Given the description of an element on the screen output the (x, y) to click on. 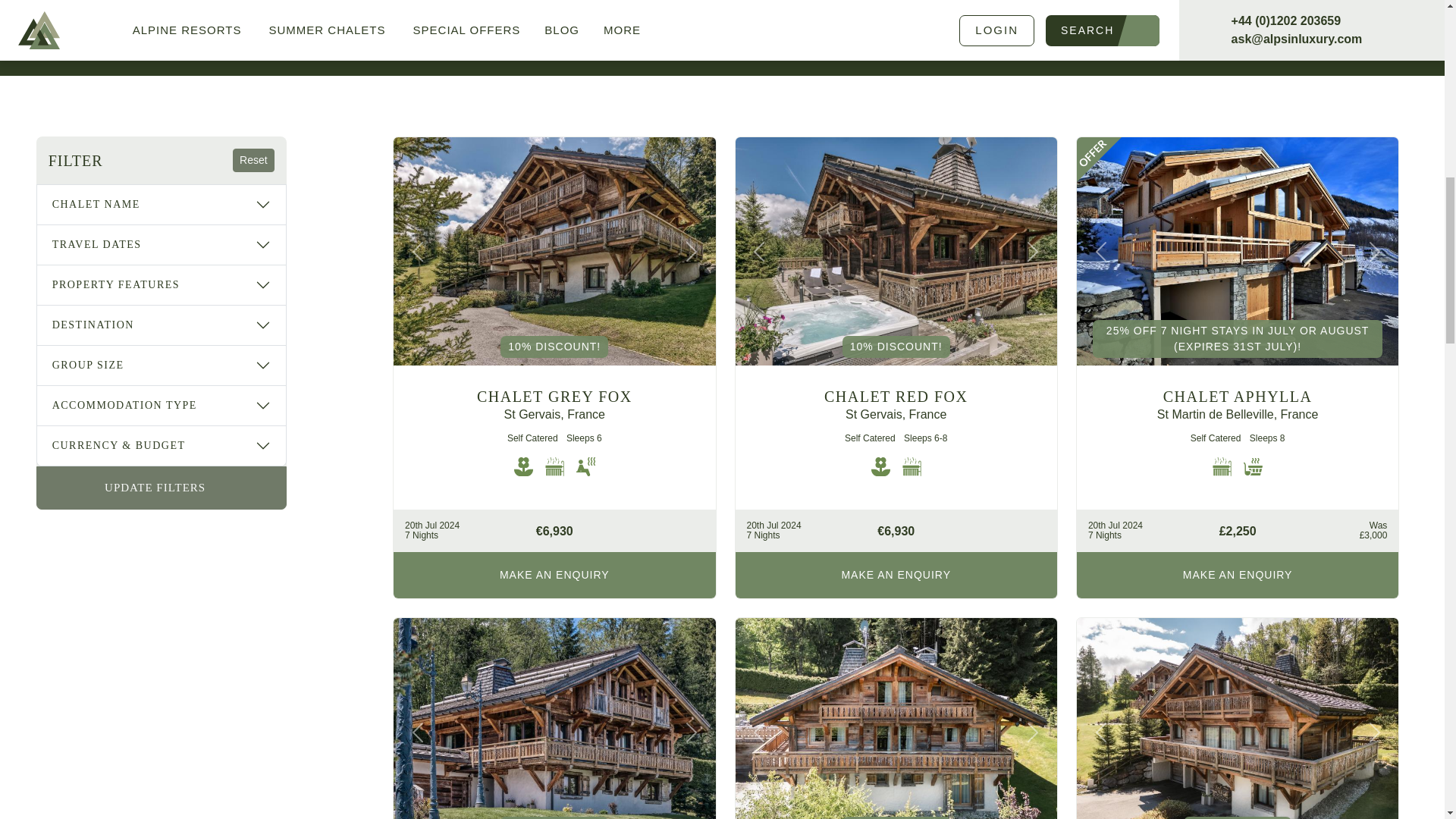
Add to your wishlist (692, 159)
Add to your wishlist (1034, 159)
Add to your wishlist (1034, 640)
Add to your wishlist (1375, 159)
Add to your wishlist (692, 640)
Add to your wishlist (1375, 640)
